Given the description of an element on the screen output the (x, y) to click on. 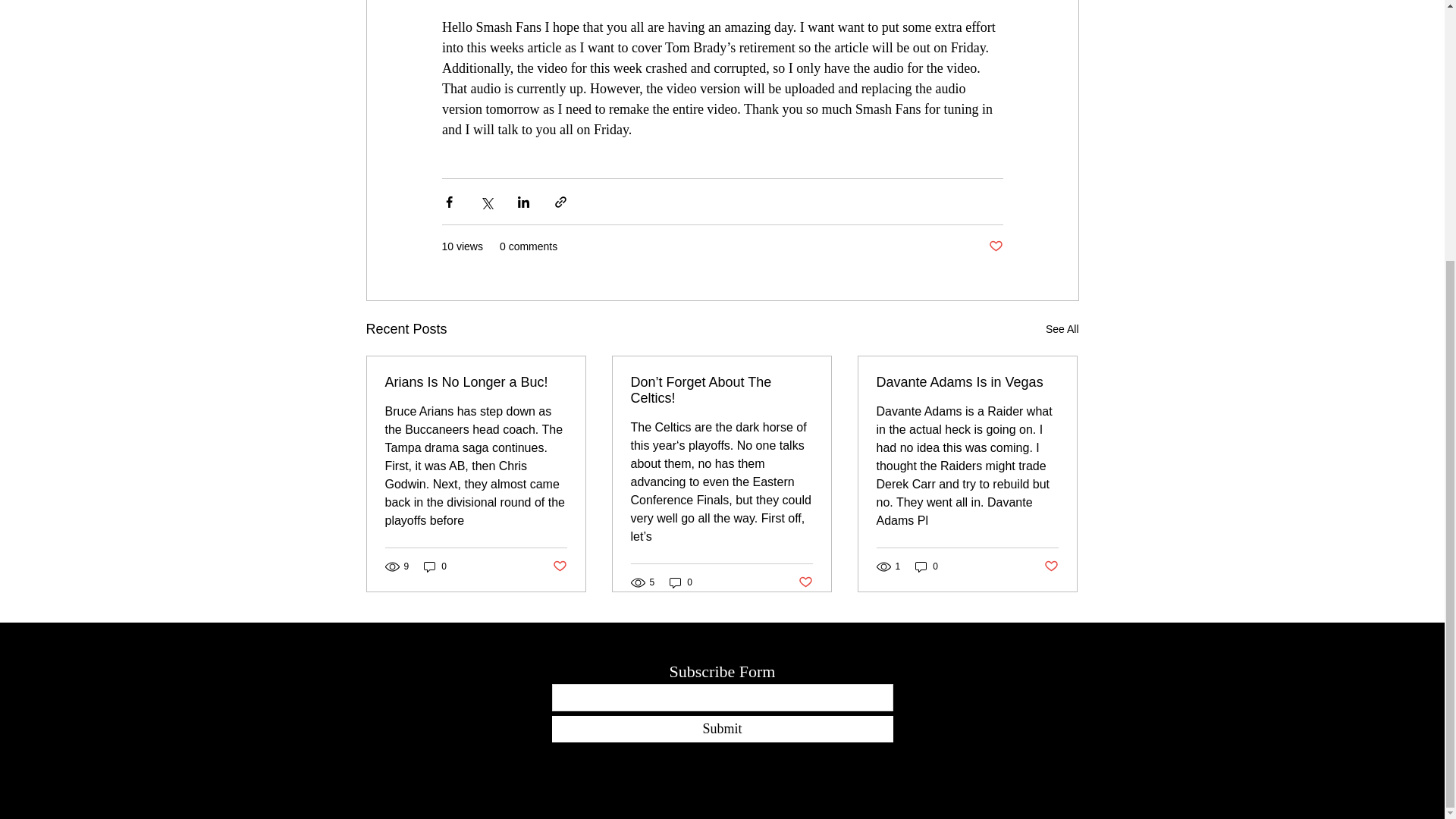
Post not marked as liked (1050, 566)
See All (1061, 329)
Davante Adams Is in Vegas (967, 382)
Submit (722, 728)
0 (435, 565)
Post not marked as liked (995, 246)
0 (926, 565)
Post not marked as liked (558, 566)
Arians Is No Longer a Buc! (476, 382)
Post not marked as liked (804, 581)
0 (681, 582)
